Given the description of an element on the screen output the (x, y) to click on. 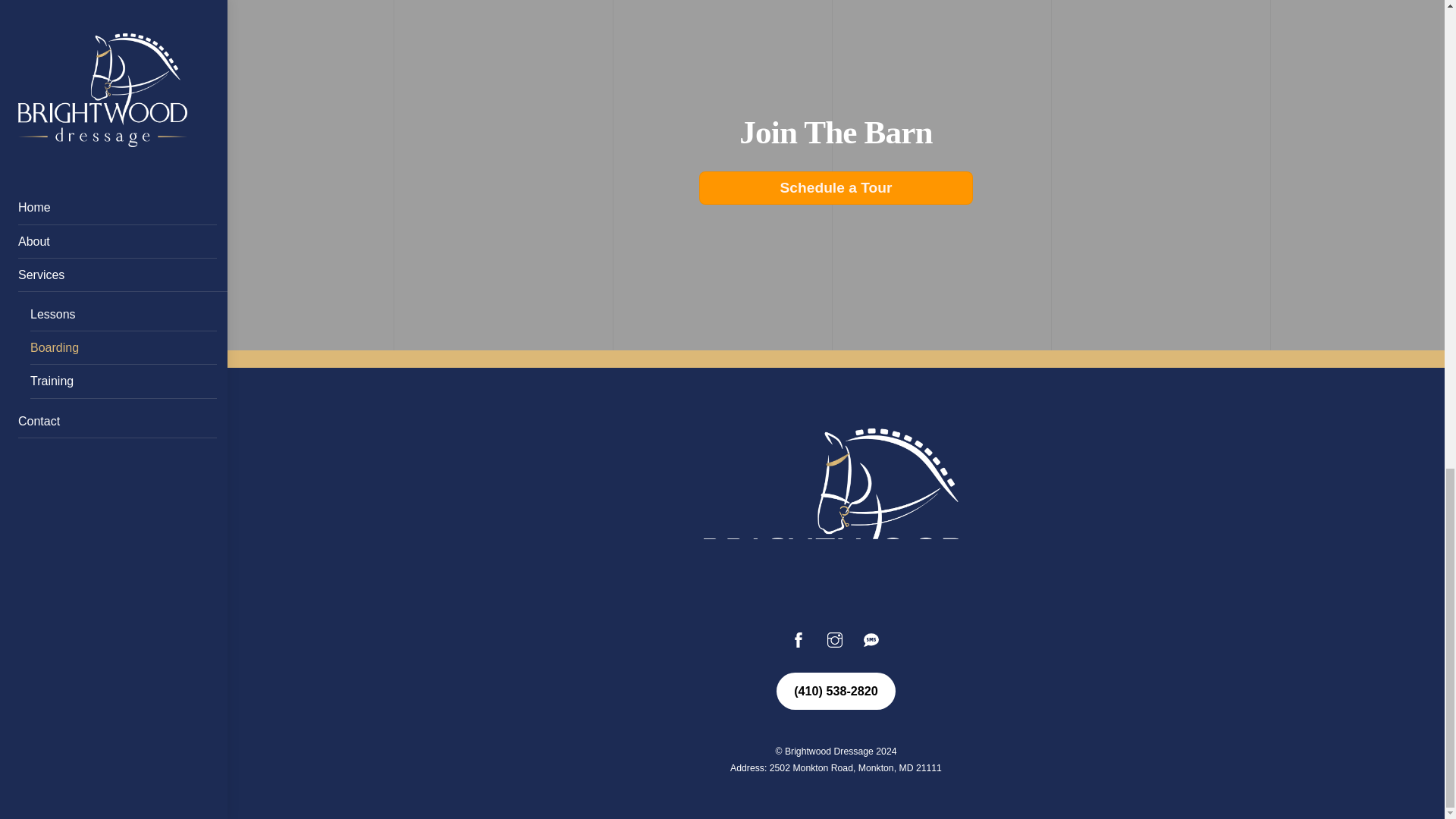
2502 Monkton Road, Monkton, MD 21111 (856, 767)
Schedule a Tour (836, 187)
Brightwood Dressage (836, 601)
Brightwood-logo-white-transparent (836, 517)
Brightwood Dressage (828, 751)
